Given the description of an element on the screen output the (x, y) to click on. 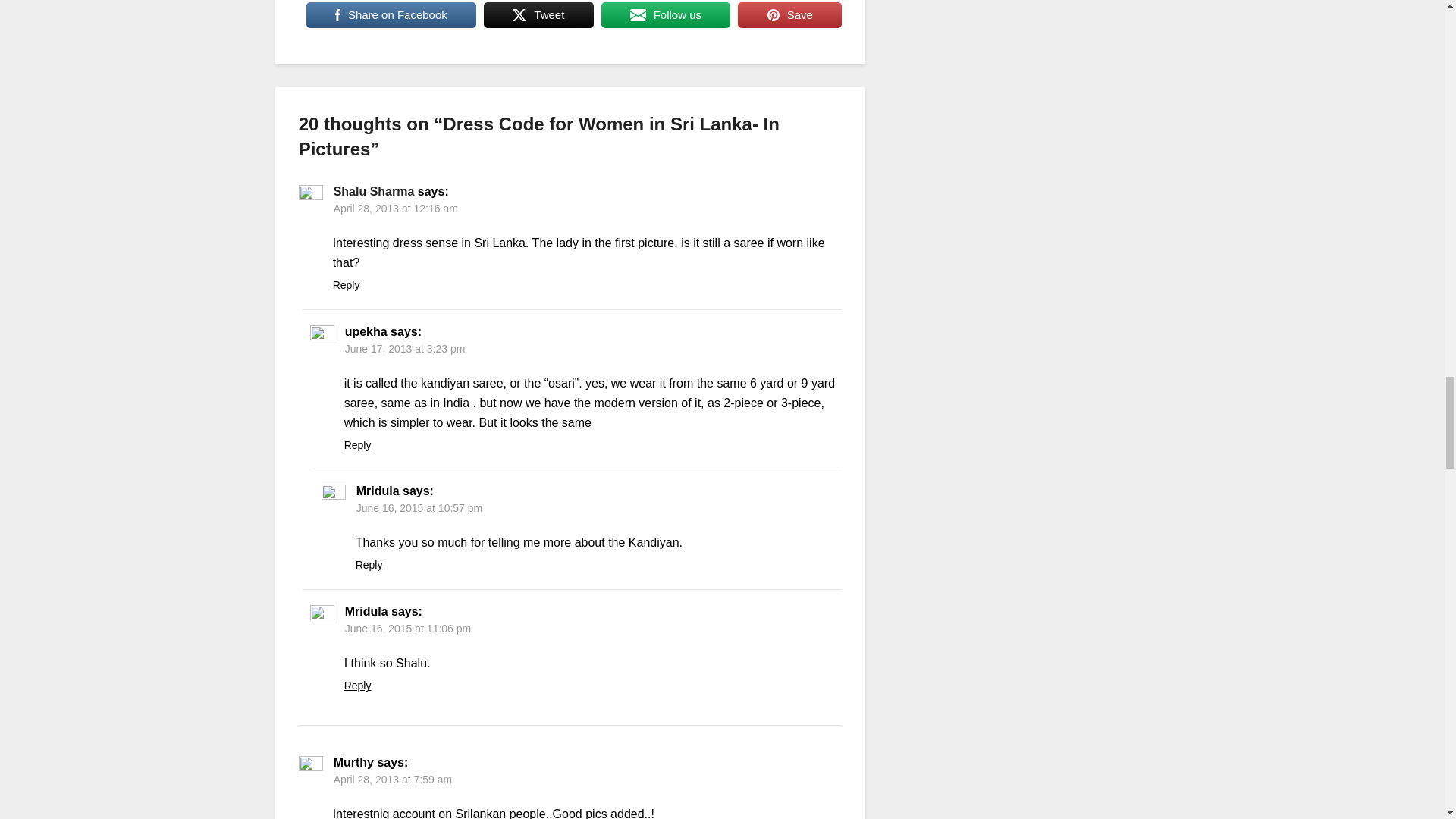
Reply (368, 564)
Reply (357, 685)
Tweet (538, 14)
Reply (346, 285)
April 28, 2013 at 7:59 am (392, 779)
Reply (357, 444)
June 16, 2015 at 11:06 pm (408, 628)
Save (789, 14)
Shalu Sharma (373, 191)
June 17, 2013 at 3:23 pm (405, 348)
